Given the description of an element on the screen output the (x, y) to click on. 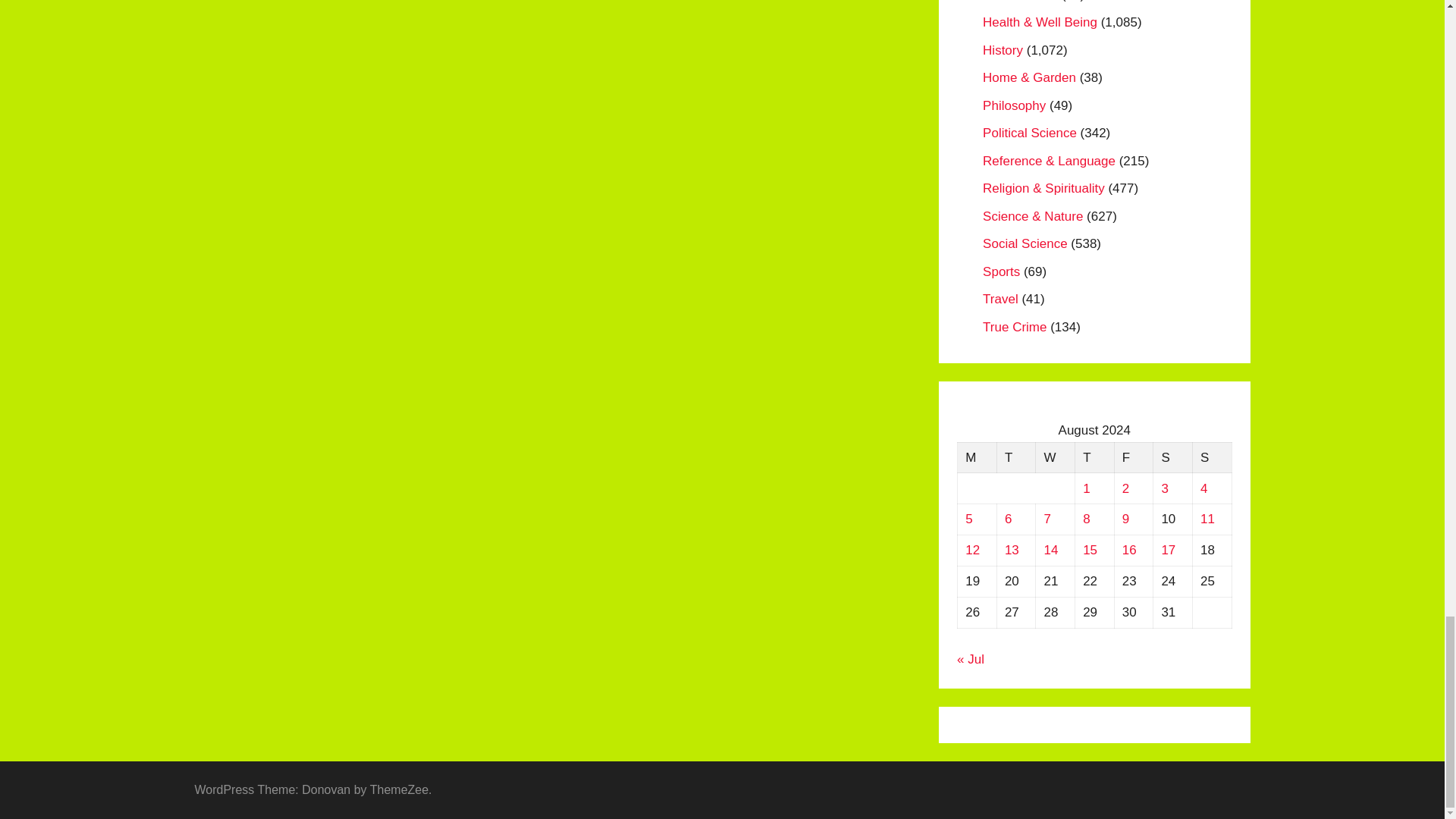
Wednesday (1055, 457)
Saturday (1172, 457)
Sunday (1211, 457)
Thursday (1093, 457)
Friday (1133, 457)
Tuesday (1015, 457)
Monday (977, 457)
